Given the description of an element on the screen output the (x, y) to click on. 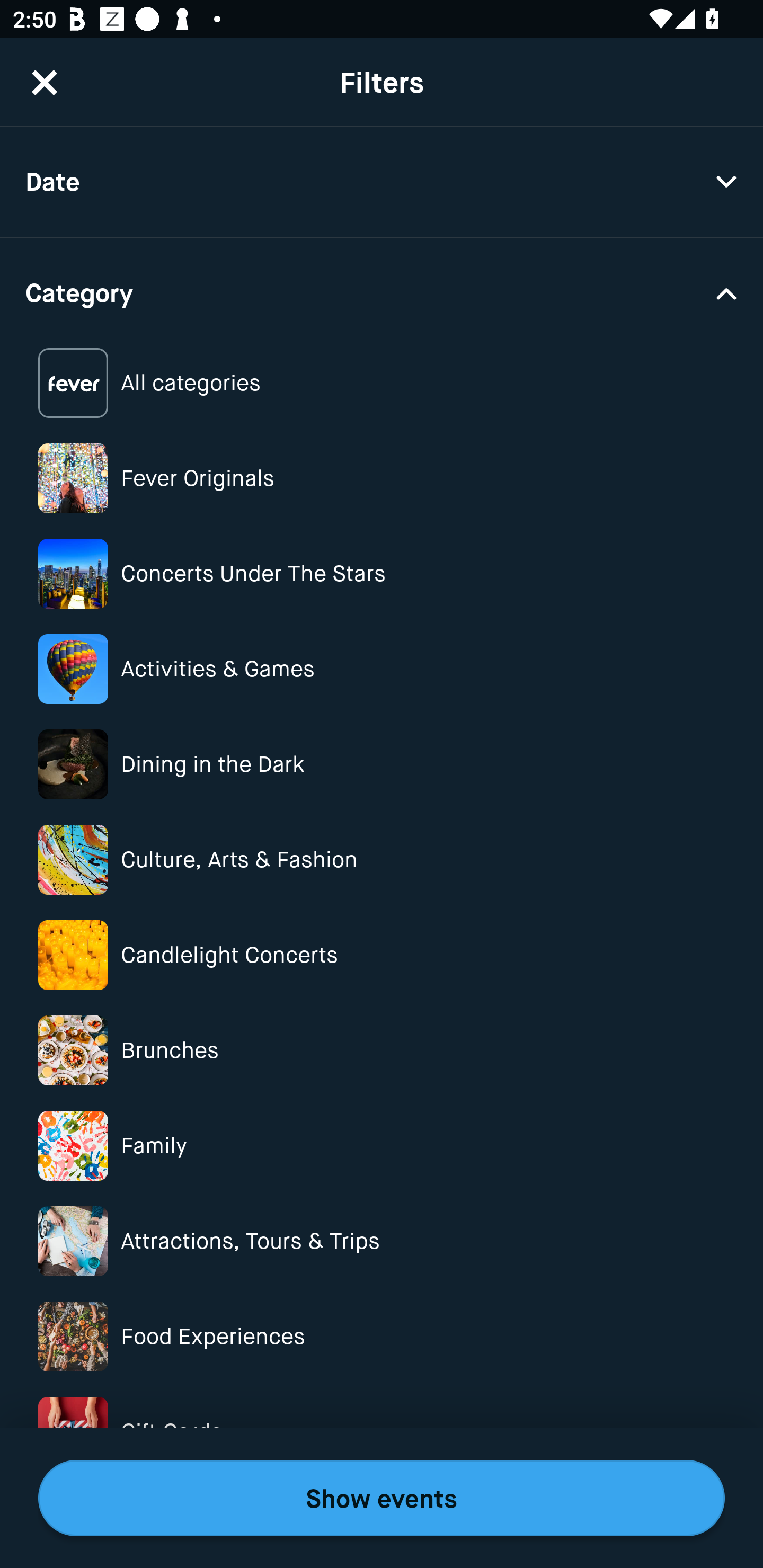
CloseButton (44, 82)
Date Drop Down Arrow (381, 182)
Category Drop Down Arrow (381, 291)
Category Image All categories (381, 382)
Category Image Fever Originals (381, 477)
Category Image Concerts Under The Stars (381, 573)
Category Image Activities & Games (381, 668)
Category Image Dining in the Dark (381, 763)
Category Image Culture, Arts & Fashion (381, 859)
Category Image Candlelight Concerts (381, 954)
Category Image Brunches (381, 1050)
Category Image Family (381, 1145)
Category Image Attractions, Tours & Trips (381, 1240)
Category Image Food Experiences (381, 1336)
Show events (381, 1497)
